Given the description of an element on the screen output the (x, y) to click on. 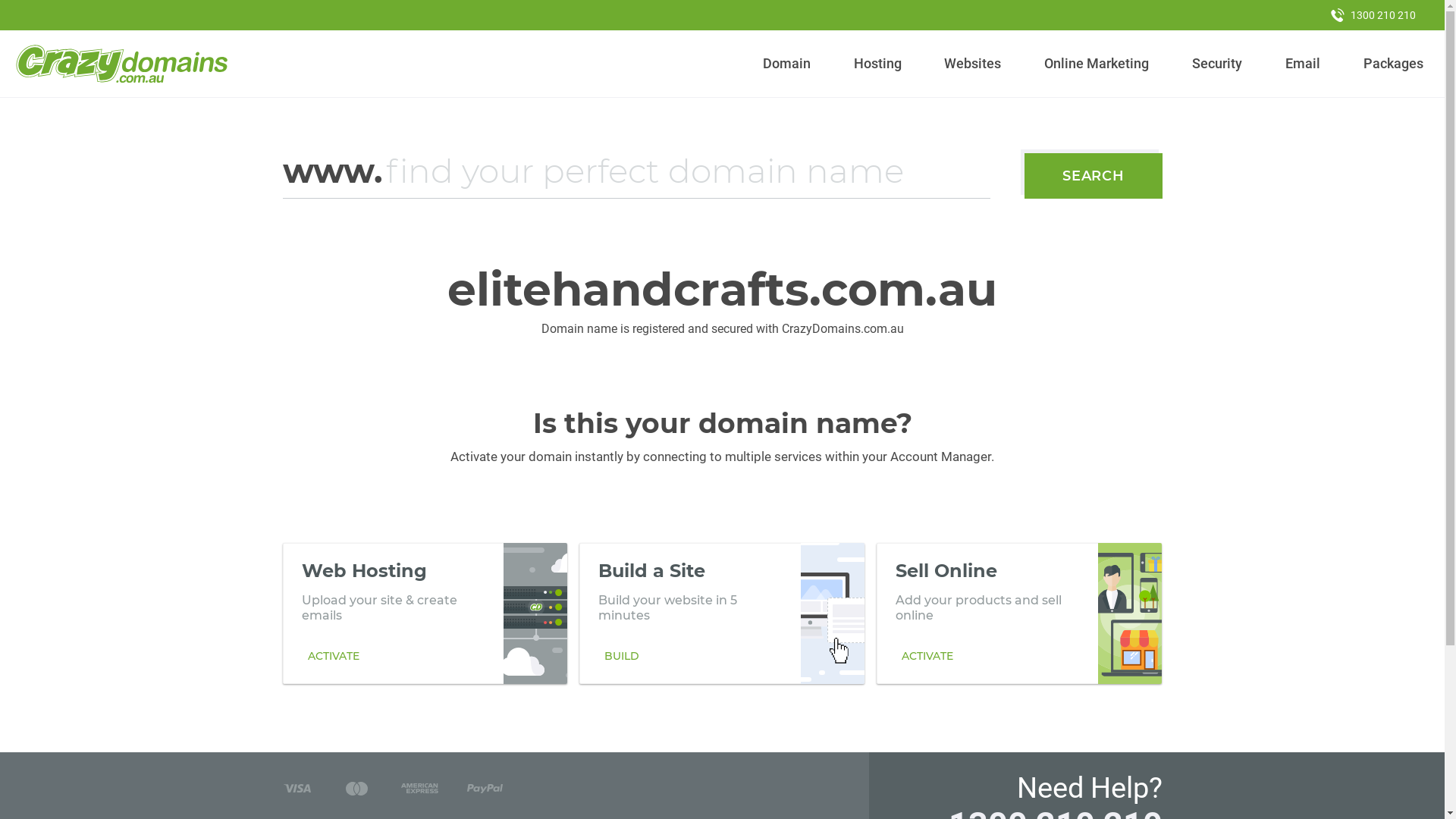
Sell Online
Add your products and sell online
ACTIVATE Element type: text (1018, 613)
1300 210 210 Element type: text (1373, 15)
Email Element type: text (1302, 63)
SEARCH Element type: text (1092, 175)
Web Hosting
Upload your site & create emails
ACTIVATE Element type: text (424, 613)
Online Marketing Element type: text (1096, 63)
Security Element type: text (1217, 63)
Build a Site
Build your website in 5 minutes
BUILD Element type: text (721, 613)
Hosting Element type: text (877, 63)
Domain Element type: text (786, 63)
Websites Element type: text (972, 63)
Packages Element type: text (1392, 63)
